Given the description of an element on the screen output the (x, y) to click on. 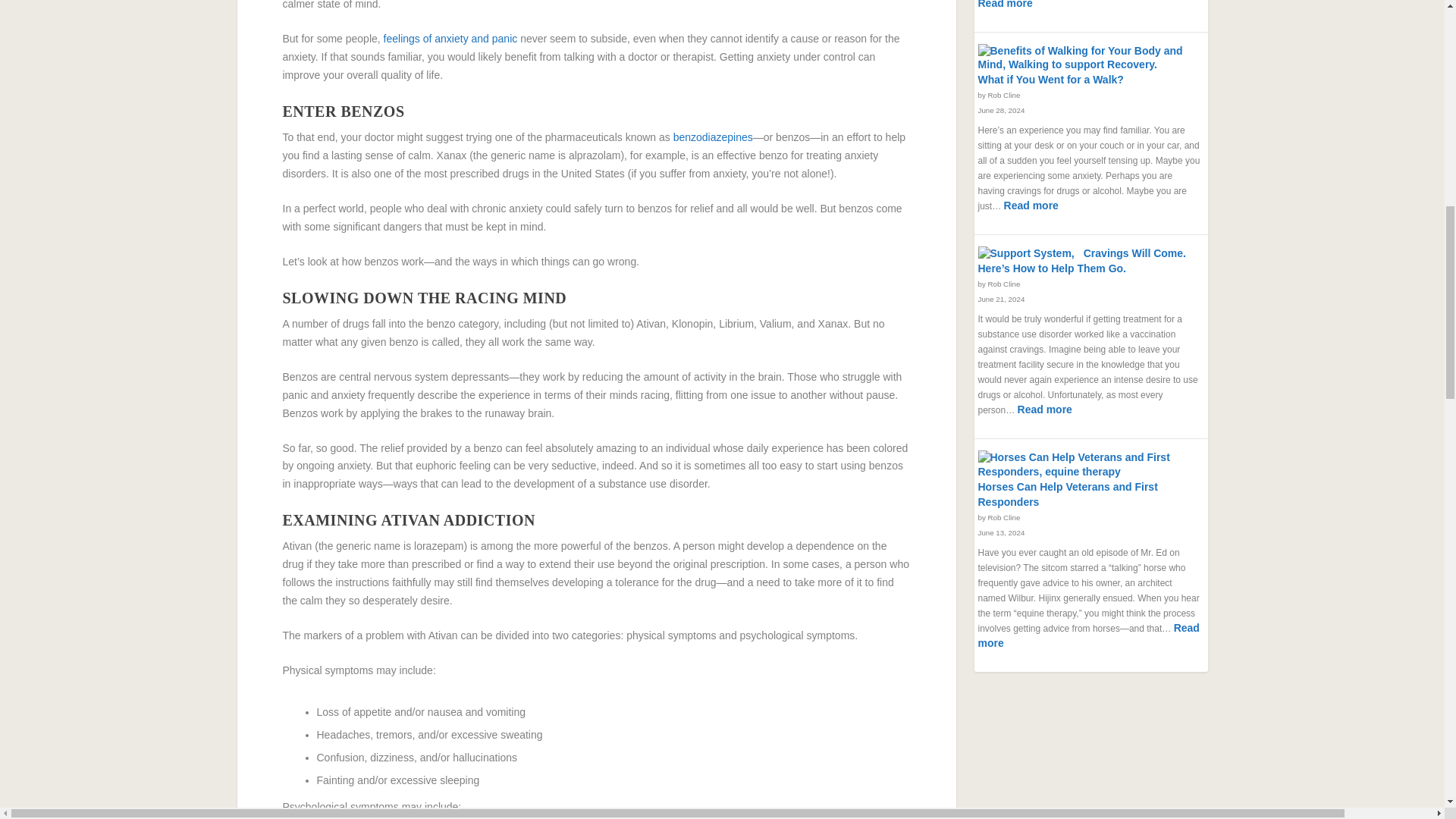
What if You Went for a Walk? (1084, 57)
